Given the description of an element on the screen output the (x, y) to click on. 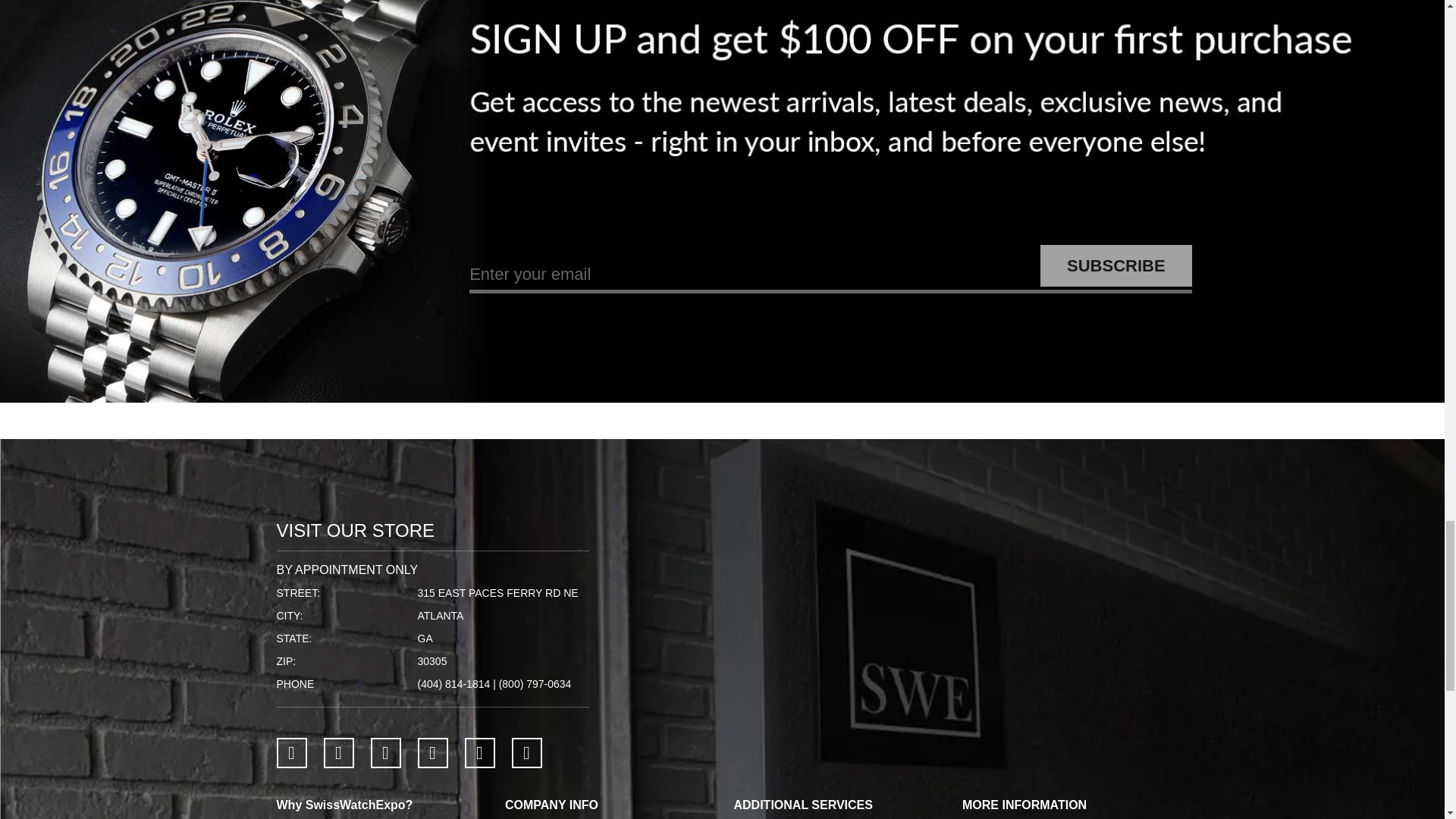
Subscribe (1116, 265)
